Given the description of an element on the screen output the (x, y) to click on. 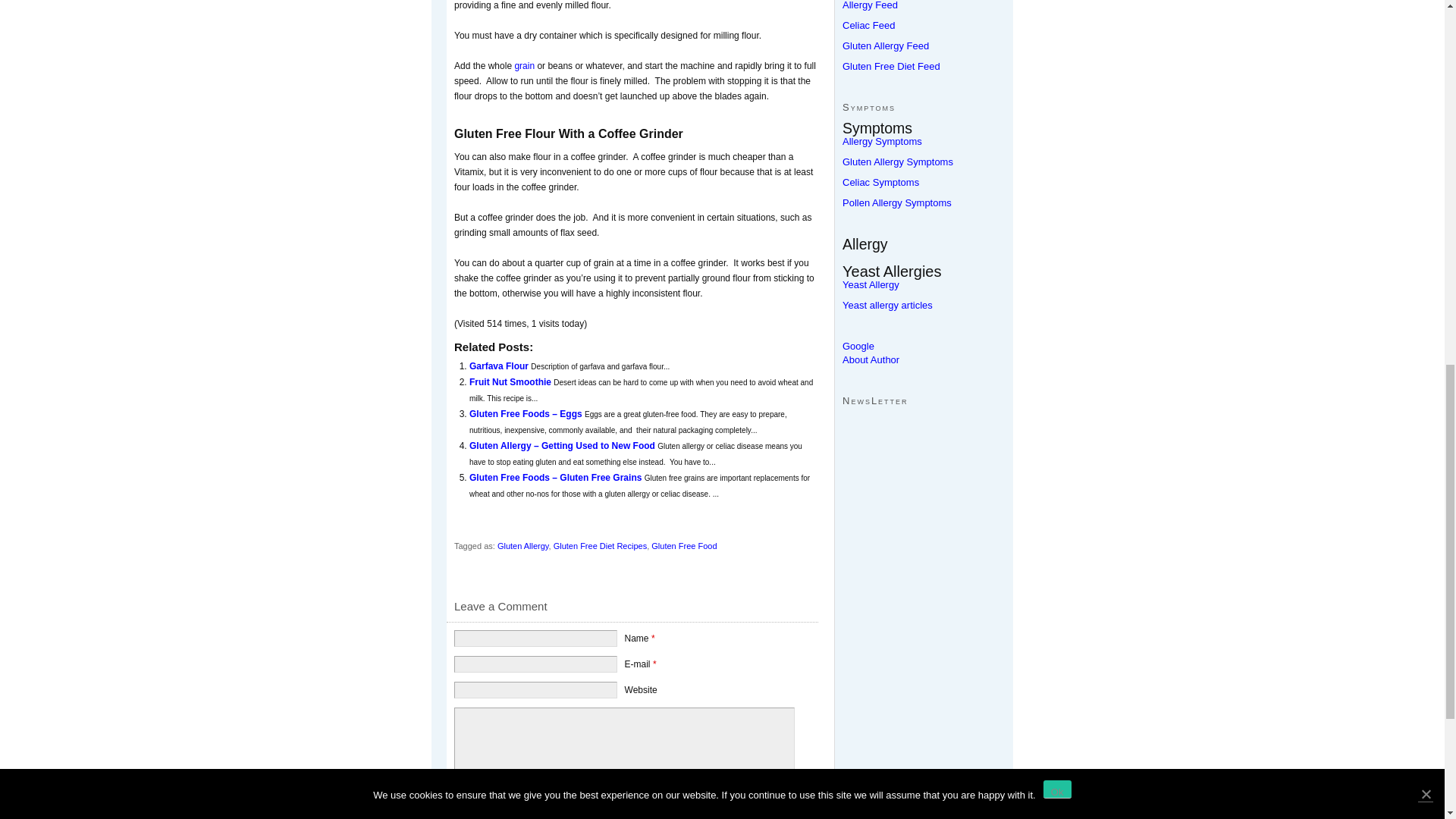
Gluten Free Diet Recipes (600, 545)
Garfava Flour (499, 366)
Gluten Free Food (683, 545)
Garfava Flour (499, 366)
Fruit Nut Smoothie (510, 381)
grain (523, 65)
Fruit Nut Smoothie (510, 381)
Required (652, 638)
Required (654, 664)
Gluten Allergy (522, 545)
